Given the description of an element on the screen output the (x, y) to click on. 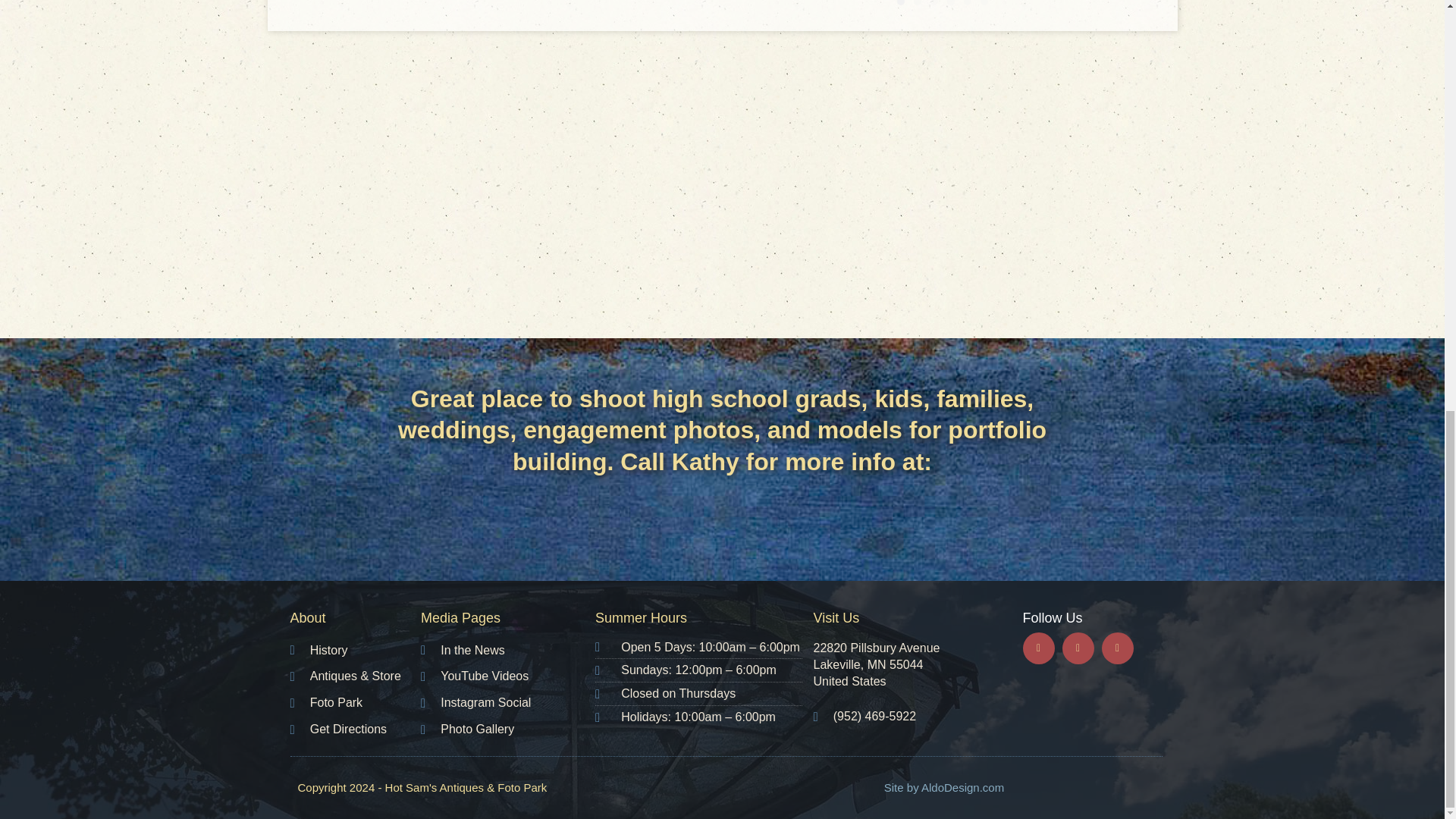
In the News (507, 650)
History (354, 650)
Get Directions (354, 730)
Foto Park (354, 703)
YouTube Videos (507, 676)
Photo Gallery (507, 730)
Site by AldoDesign.com (943, 787)
Instagram Social (507, 703)
